Given the description of an element on the screen output the (x, y) to click on. 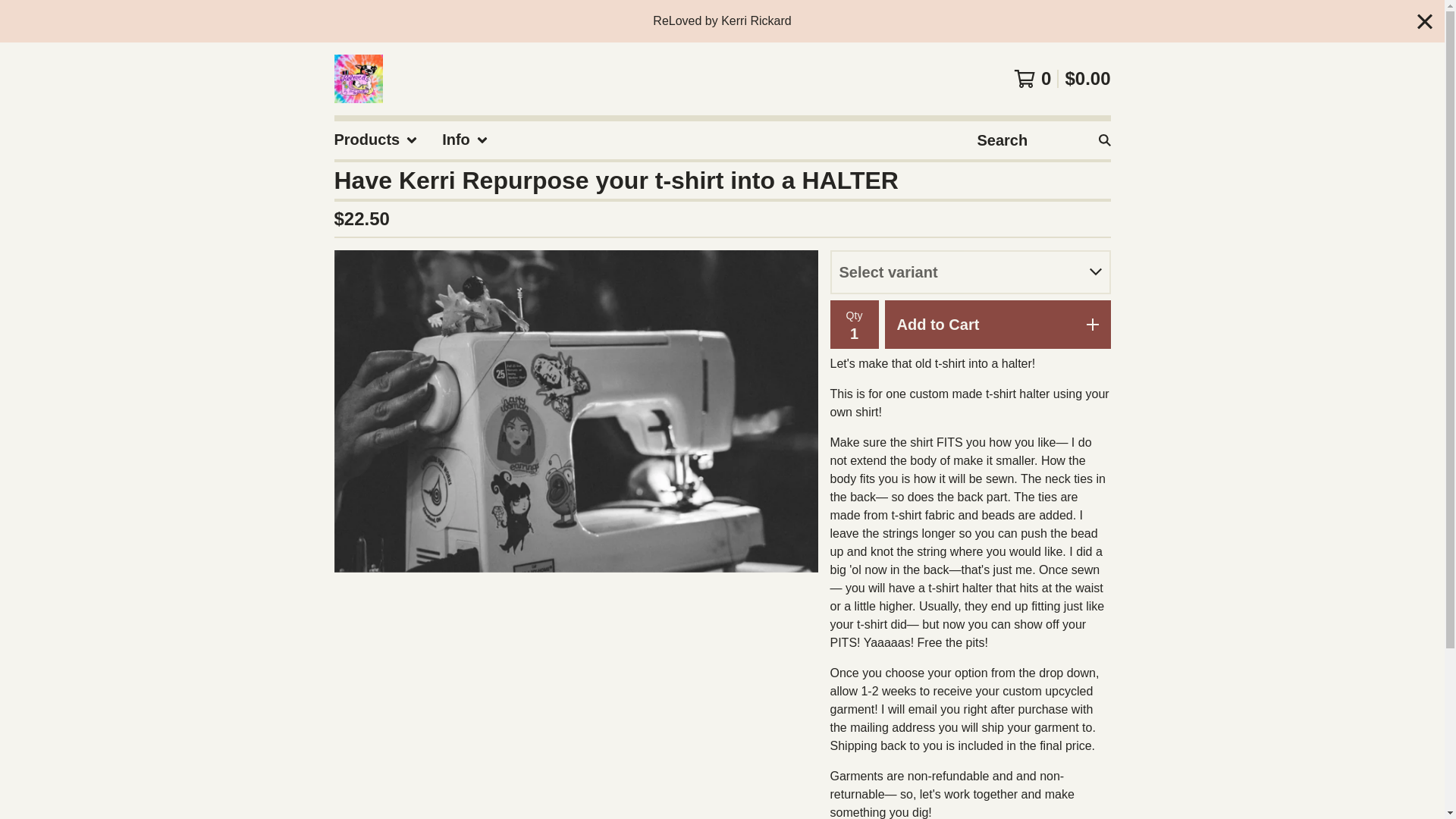
View cart (1061, 78)
Info (464, 139)
Products (375, 139)
1 (853, 333)
Home (357, 78)
